Given the description of an element on the screen output the (x, y) to click on. 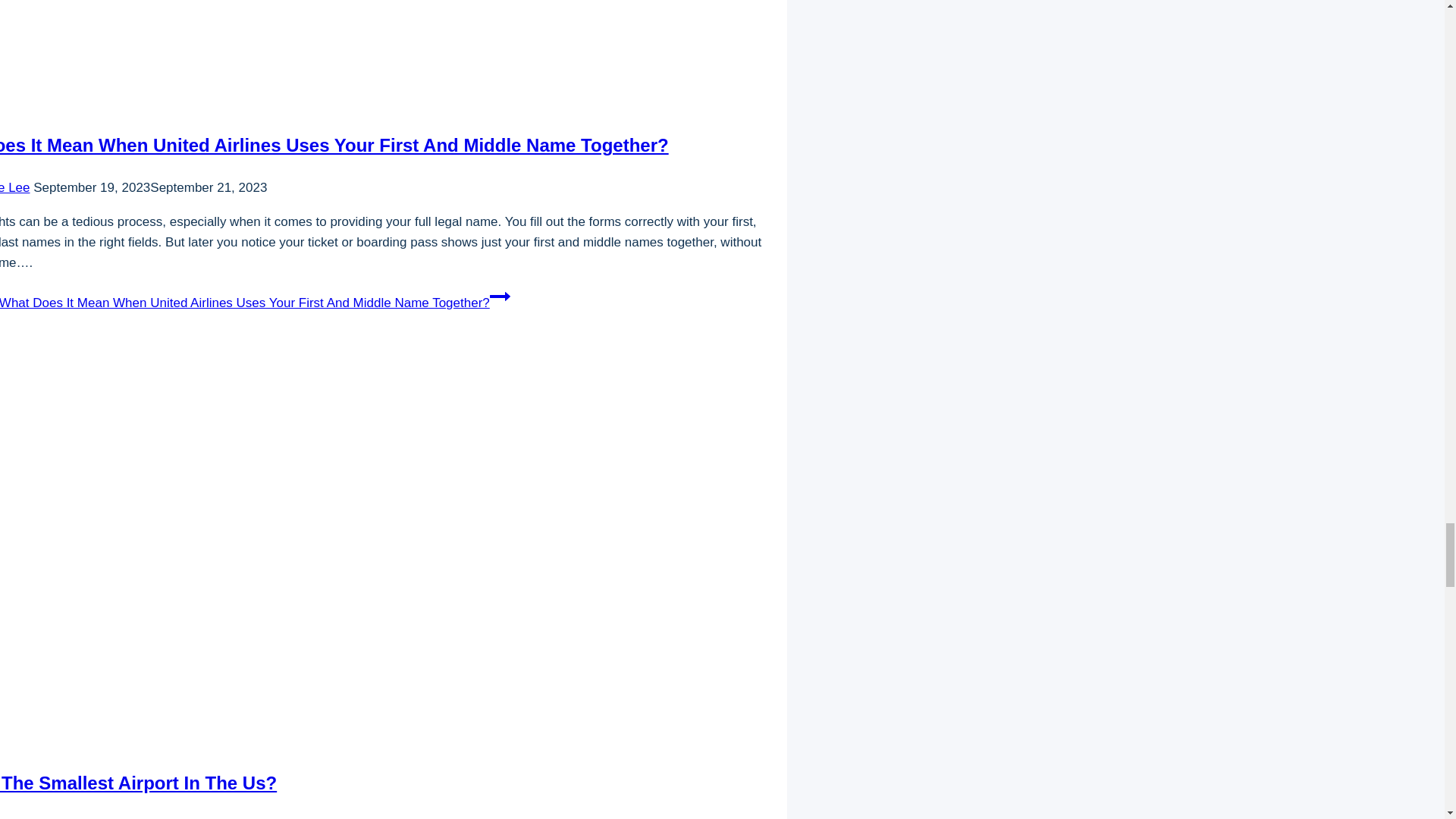
Stephanie Lee (15, 187)
Continue (500, 296)
What Is The Smallest Airport In The Us? (138, 783)
